Given the description of an element on the screen output the (x, y) to click on. 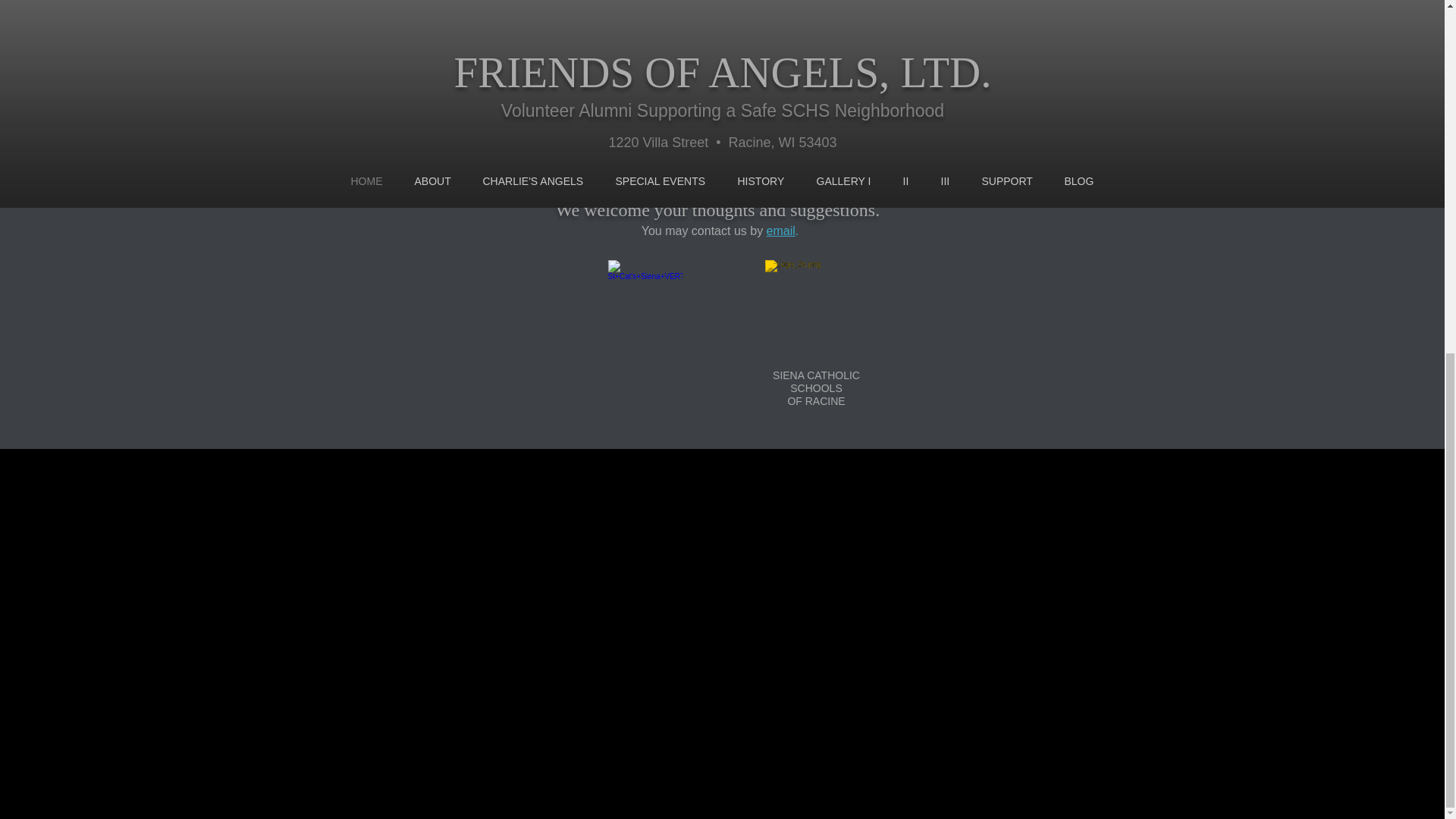
renovation (621, 114)
email (780, 230)
story (704, 87)
Charlie's Angels (695, 114)
